Given the description of an element on the screen output the (x, y) to click on. 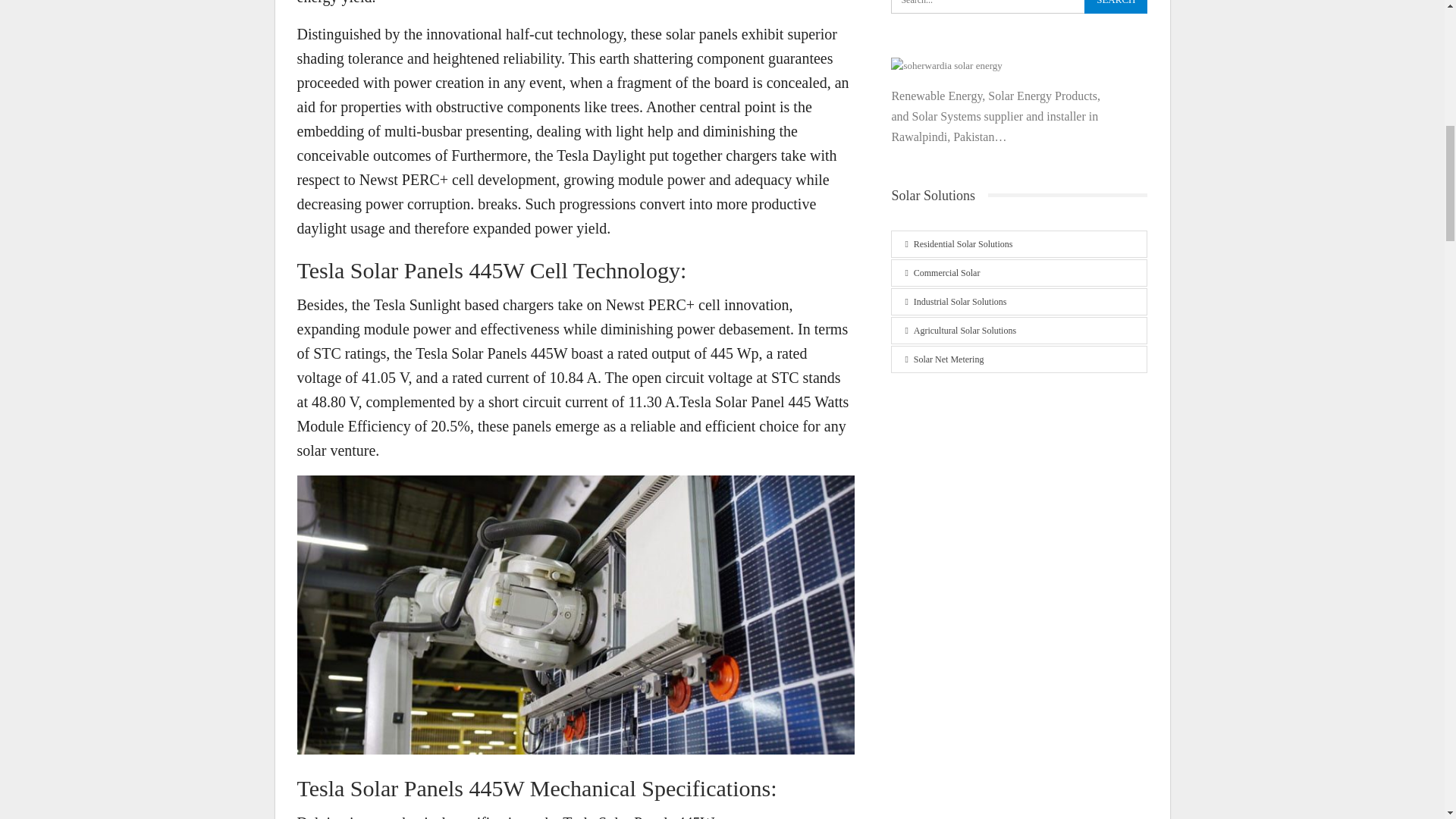
Search (1115, 6)
Search (1115, 6)
